Given the description of an element on the screen output the (x, y) to click on. 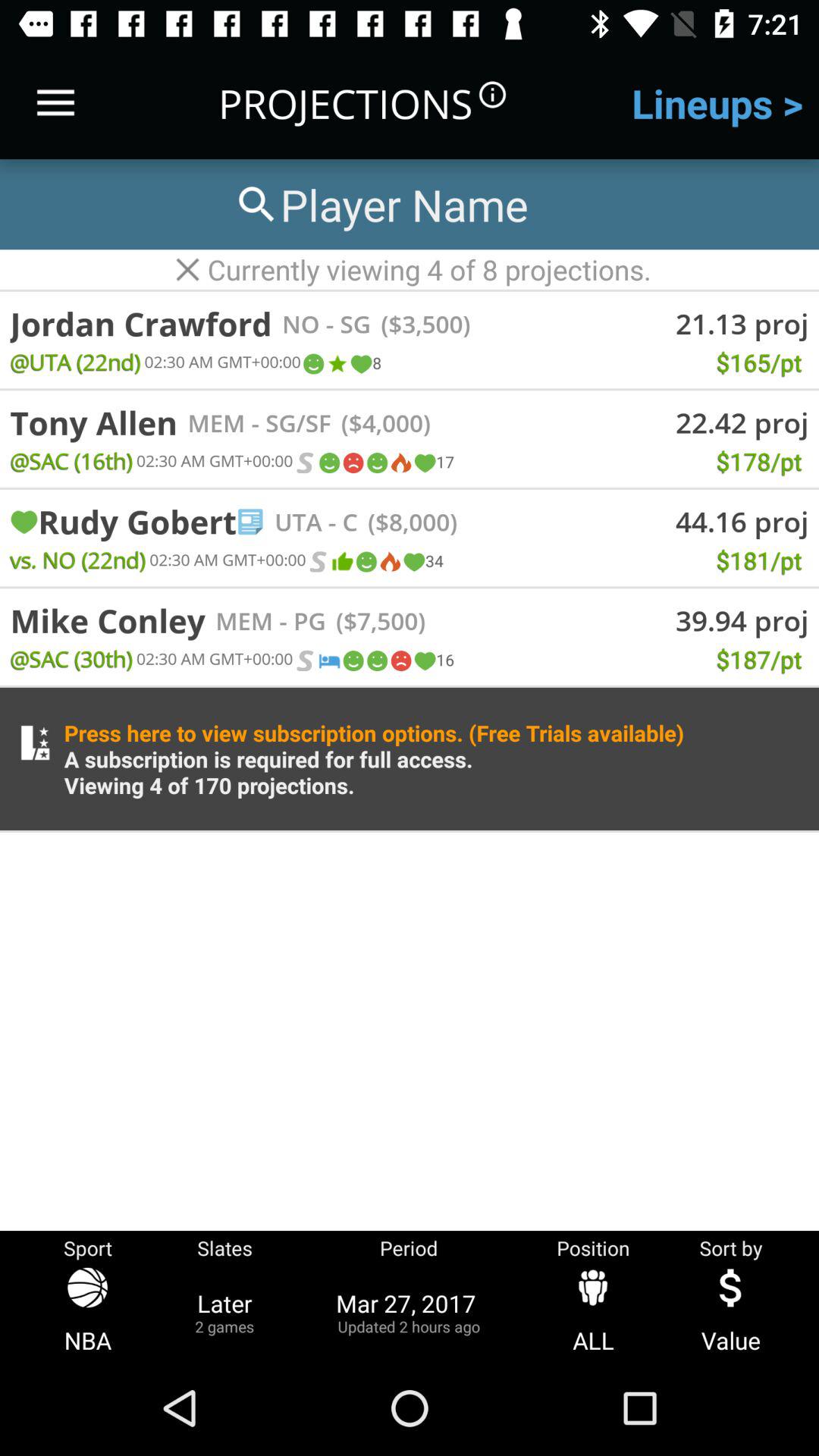
choose icon below the no (336, 363)
